Given the description of an element on the screen output the (x, y) to click on. 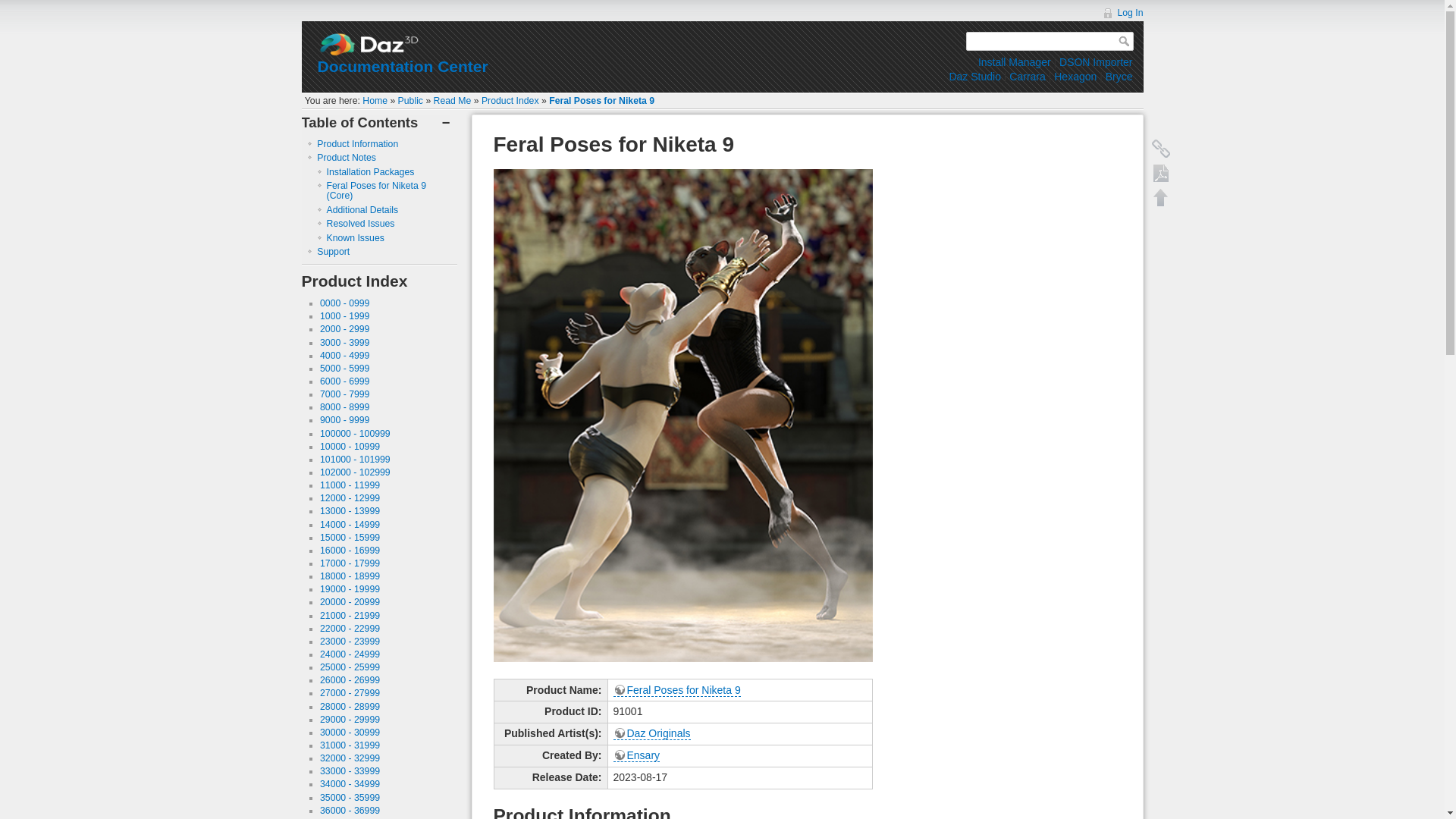
Product Index (509, 100)
Feral Poses for Niketa 9 (600, 100)
public:software:hexagon:start (1075, 76)
Search (1125, 40)
Known Issues (355, 236)
Search (1125, 40)
8000 - 8999 (344, 407)
Product Information (357, 143)
5000 - 5999 (344, 368)
Product Notes (346, 157)
11000 - 11999 (350, 484)
Read Me (452, 100)
Carrara (1027, 76)
Install Manager (1014, 61)
start (374, 100)
